Given the description of an element on the screen output the (x, y) to click on. 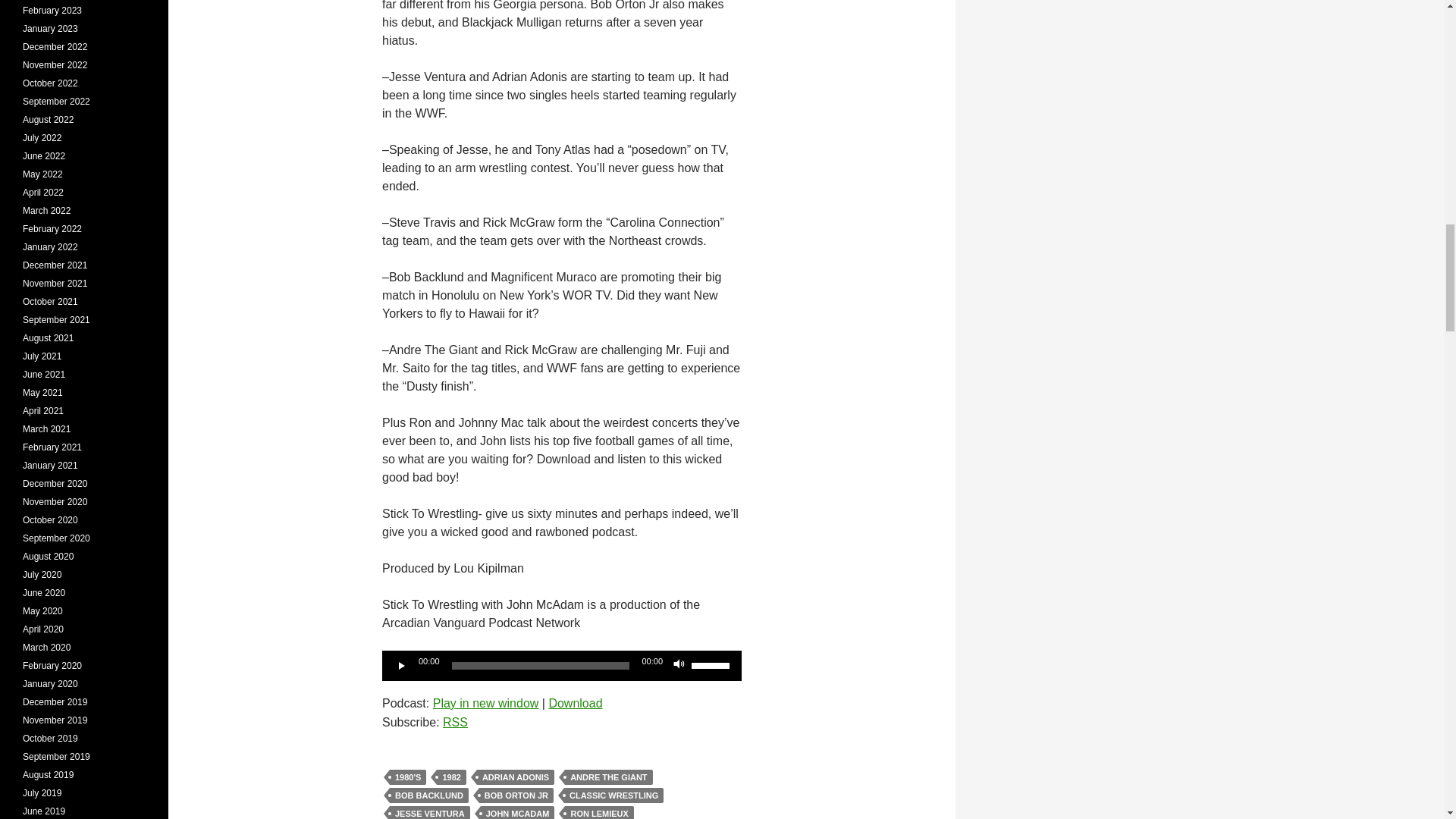
Play (401, 665)
BOB BACKLUND (429, 795)
JESSE VENTURA (430, 812)
Download (575, 703)
RON LEMIEUX (598, 812)
Play in new window (485, 703)
1980'S (408, 776)
1982 (450, 776)
Mute (679, 665)
JOHN MCADAM (517, 812)
Download (575, 703)
BOB ORTON JR (516, 795)
Play in new window (485, 703)
ANDRE THE GIANT (608, 776)
RSS (454, 721)
